Given the description of an element on the screen output the (x, y) to click on. 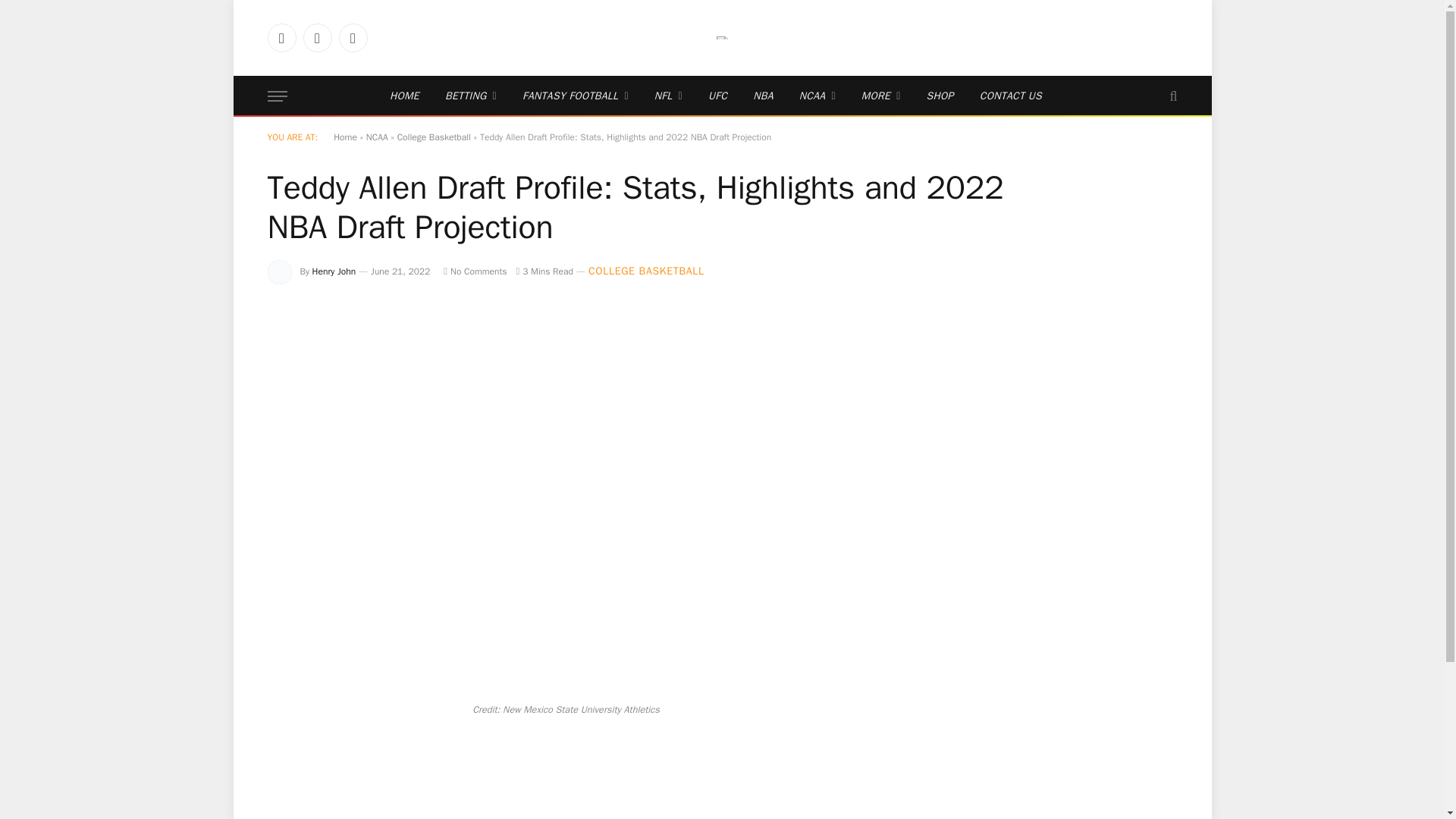
CONTACT US (1010, 95)
NBA (762, 95)
HOME (404, 95)
UFC (717, 95)
Posts by Henry John (334, 271)
NFL (668, 95)
MORE (881, 95)
BETTING (470, 95)
NCAA (817, 95)
Instagram (351, 37)
